Given the description of an element on the screen output the (x, y) to click on. 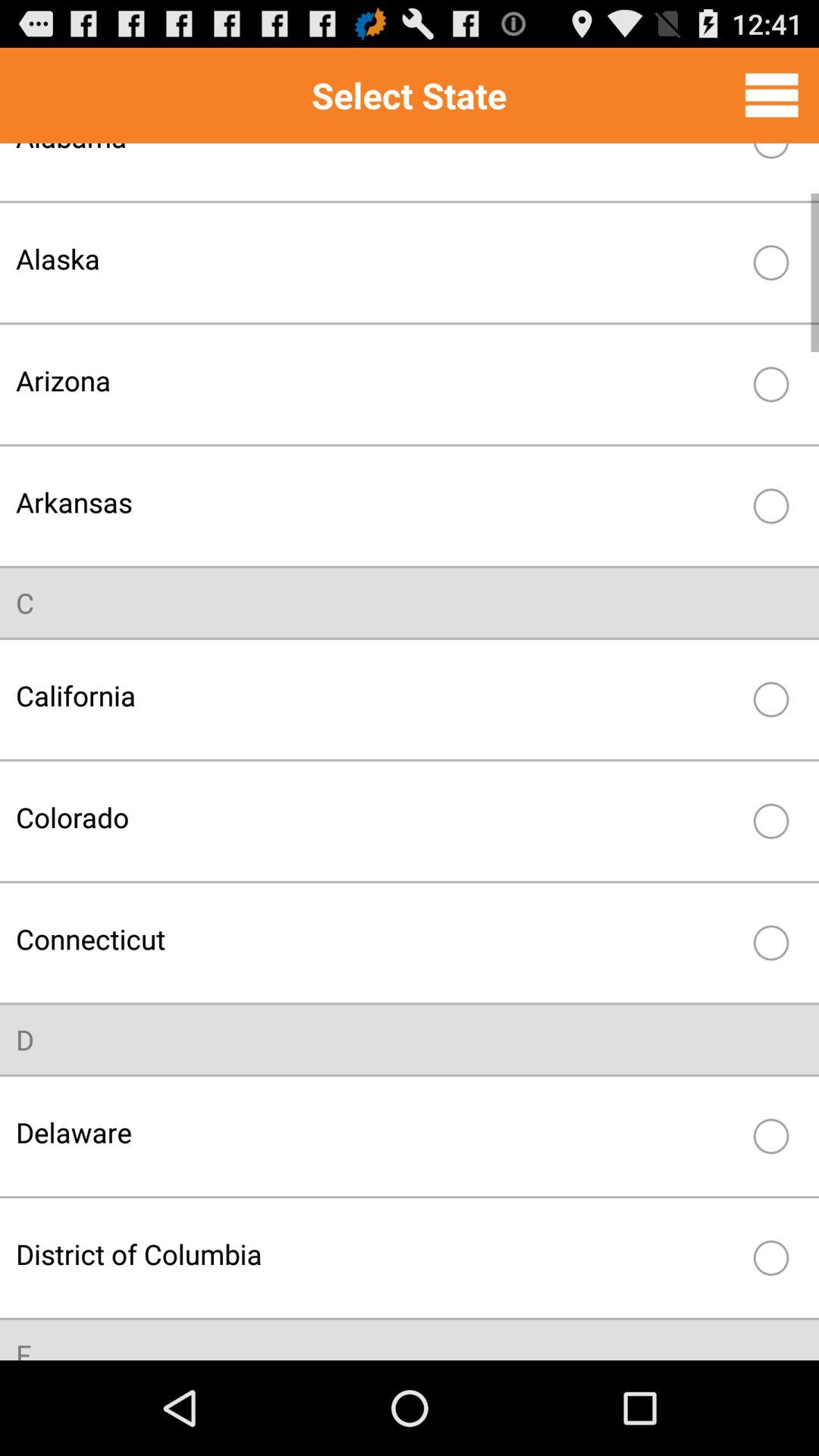
turn off icon above delaware item (24, 1039)
